Given the description of an element on the screen output the (x, y) to click on. 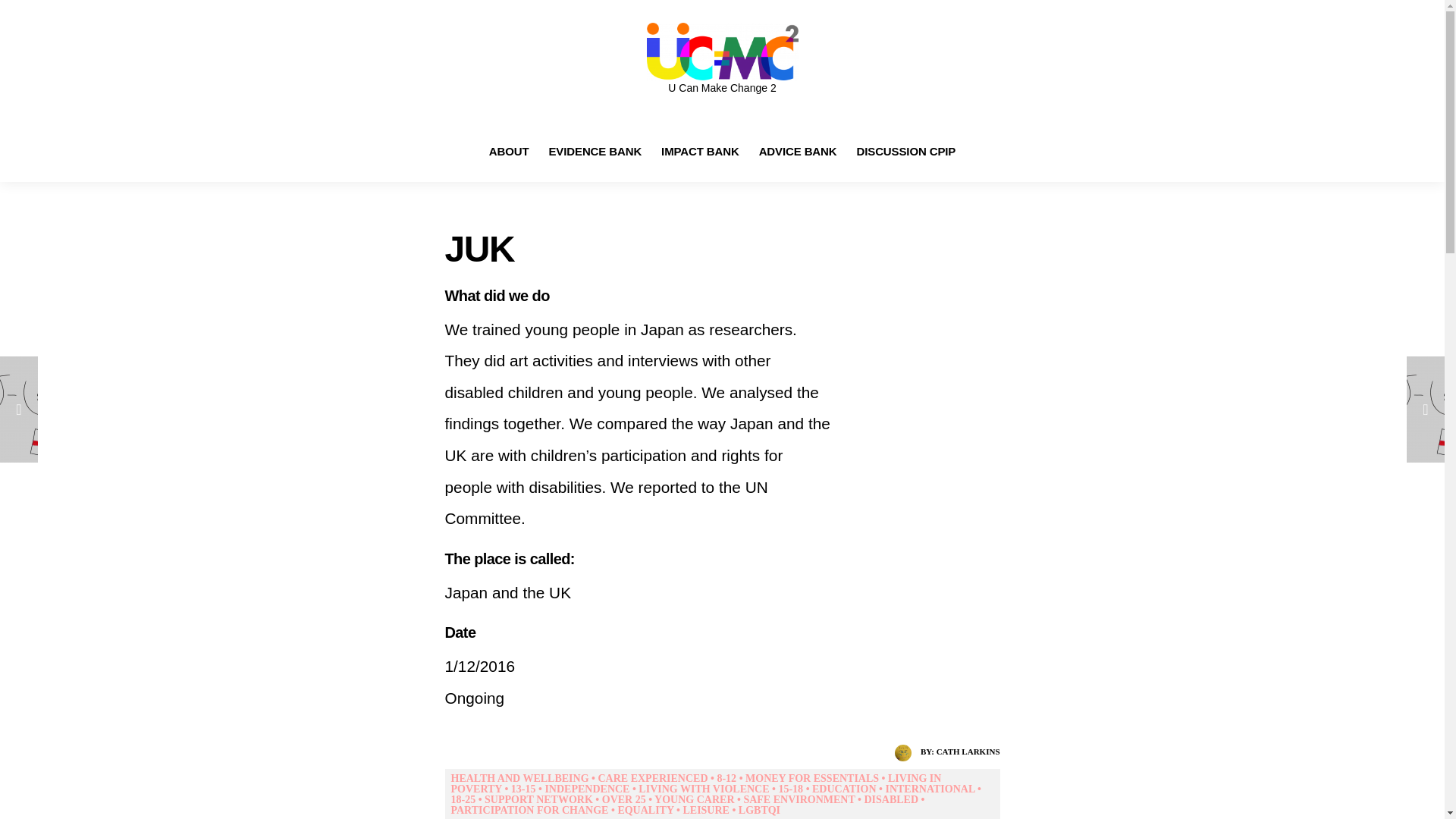
YOUNG CARER (693, 799)
LIVING IN POVERTY (694, 783)
EVIDENCE BANK (594, 150)
SUPPORT NETWORK (538, 799)
IMPACT BANK (699, 150)
SAFE ENVIRONMENT (798, 799)
8-12 (726, 778)
DISCUSSION CPIP (905, 150)
EQUALITY (644, 809)
OVER 25 (624, 799)
ABOUT (509, 150)
HEALTH AND WELLBEING (518, 778)
DISABLED (890, 799)
18-25 (462, 799)
MONEY FOR ESSENTIALS (812, 778)
